Given the description of an element on the screen output the (x, y) to click on. 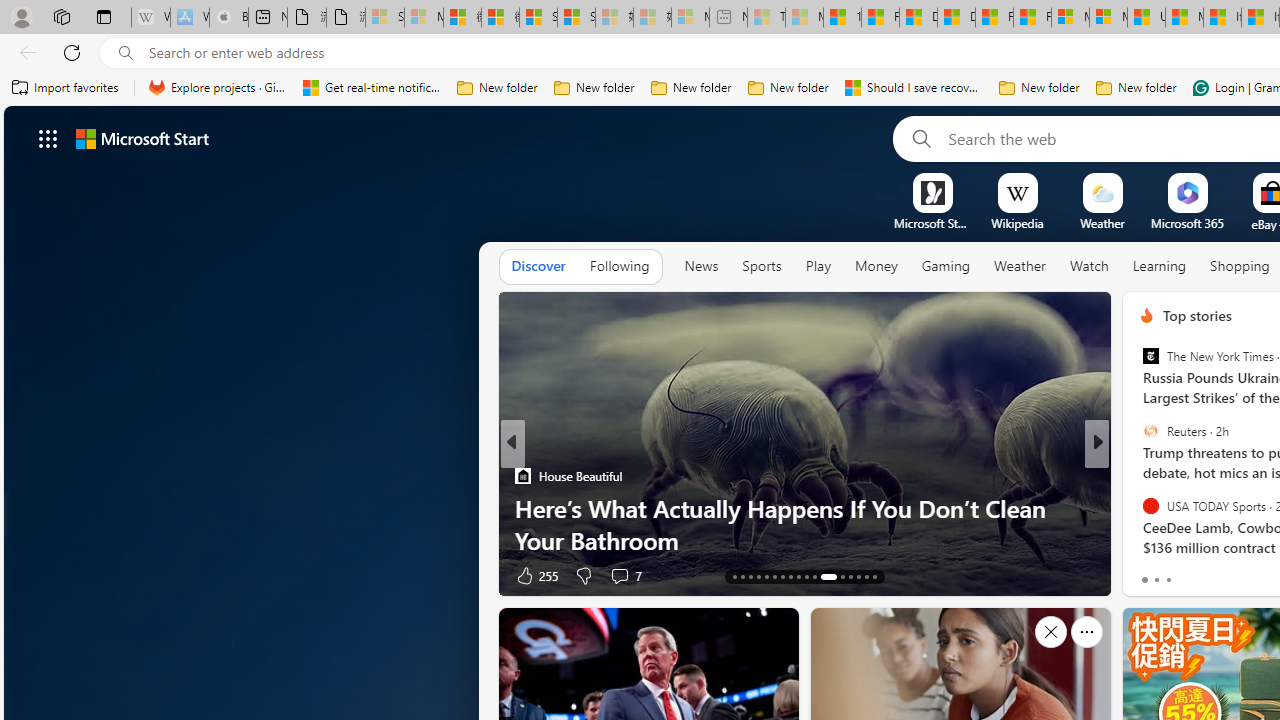
View comments 460 Comment (1247, 574)
New folder (1136, 88)
View comments 66 Comment (11, 575)
Import favorites (65, 88)
Food and Drink - MSN (879, 17)
AutomationID: tab-15 (750, 576)
tab-2 (1168, 579)
AutomationID: tab-20 (789, 576)
AutomationID: tab-23 (814, 576)
